Given the description of an element on the screen output the (x, y) to click on. 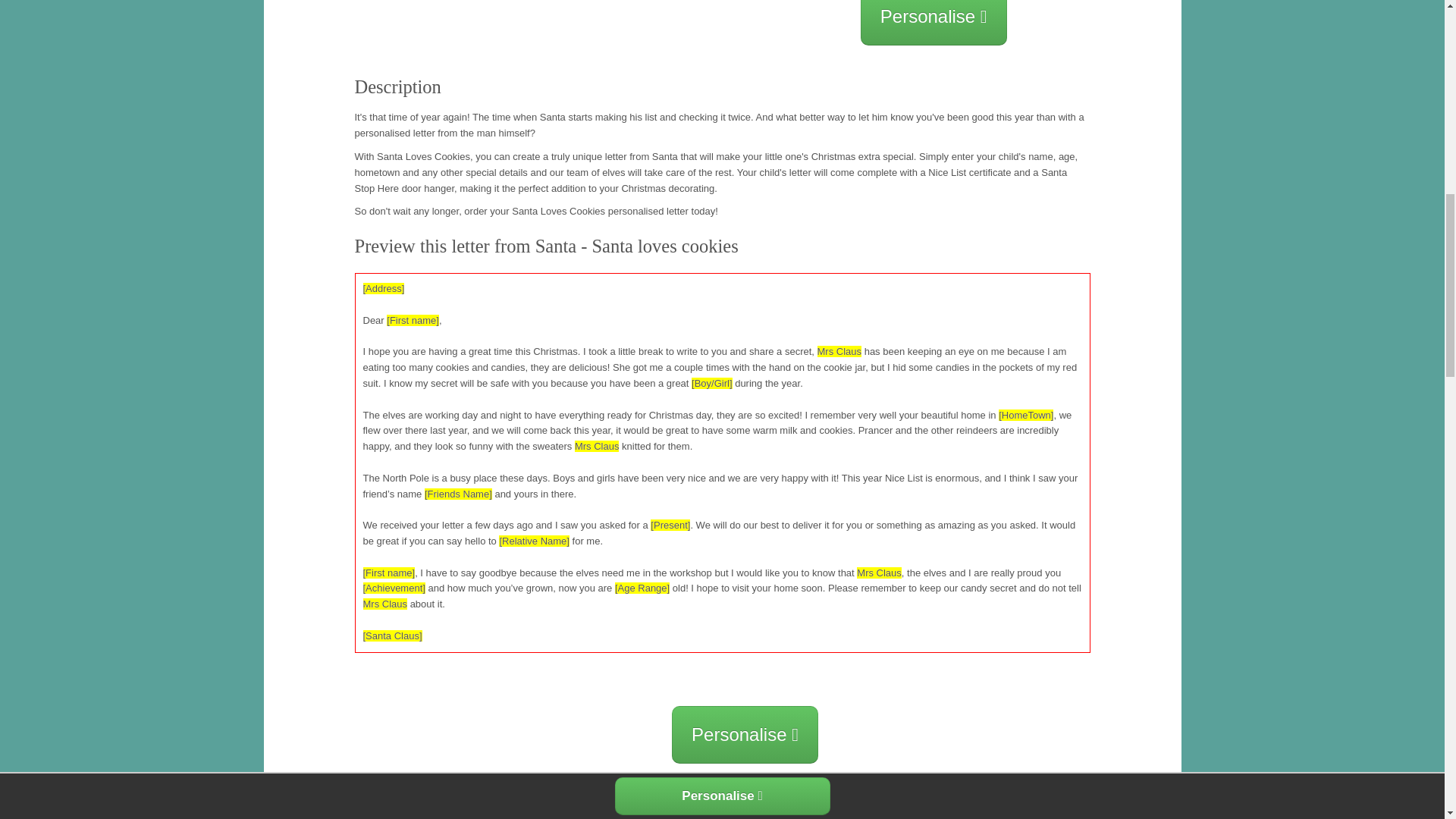
Personalised Nice List Certificate from Santa (910, 814)
Personalise (933, 22)
Personalise (744, 733)
